Given the description of an element on the screen output the (x, y) to click on. 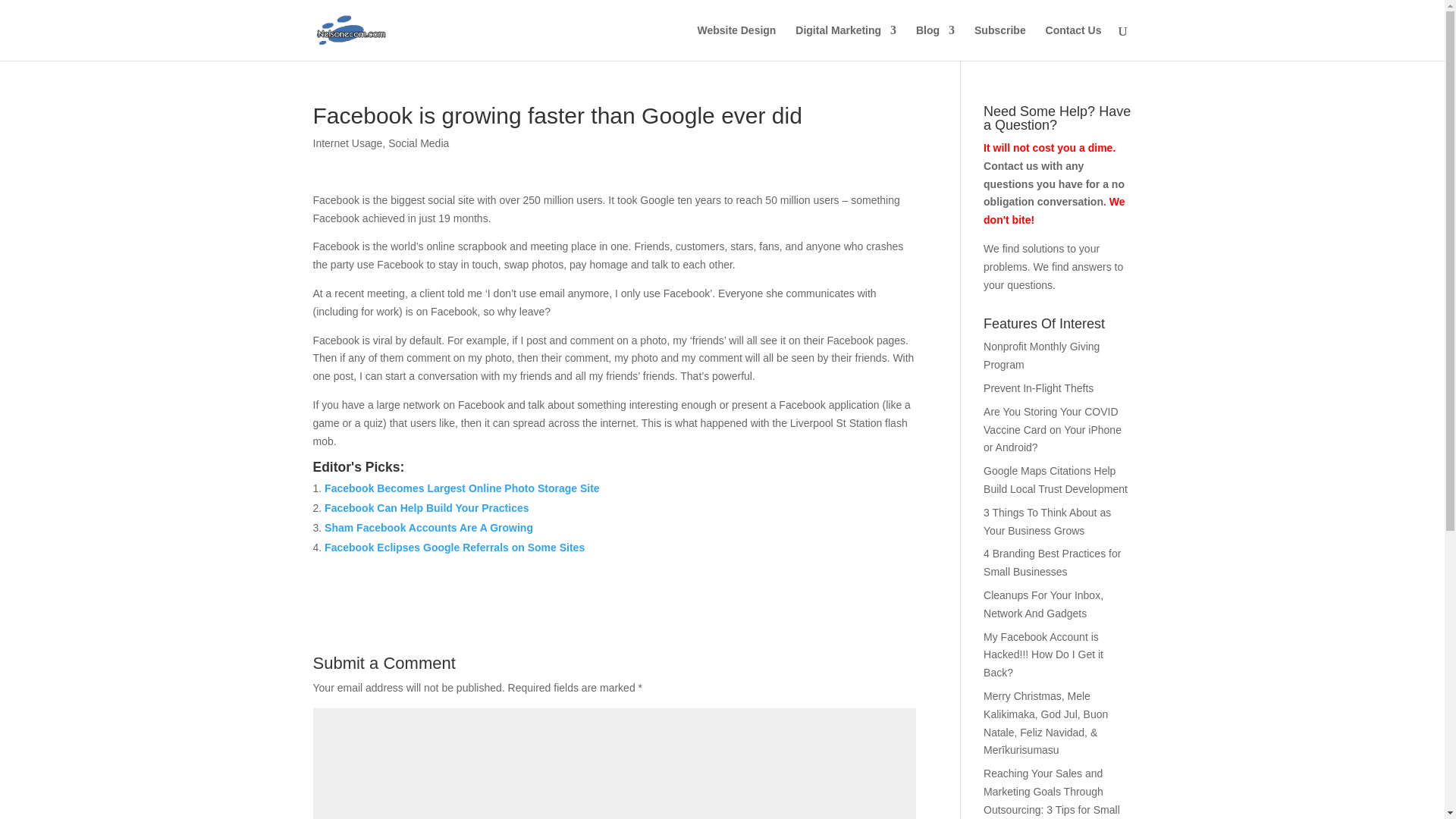
Facebook Eclipses Google Referrals on Some Sites (454, 547)
Facebook Becomes Largest Online Photo Storage Site (461, 488)
Digital Marketing (845, 42)
Sham Facebook Accounts Are A Growing (428, 527)
Blog (935, 42)
Facebook Can Help Build Your Practices (426, 508)
Contact Us (1073, 42)
Subscribe (1000, 42)
Website Design (736, 42)
